Given the description of an element on the screen output the (x, y) to click on. 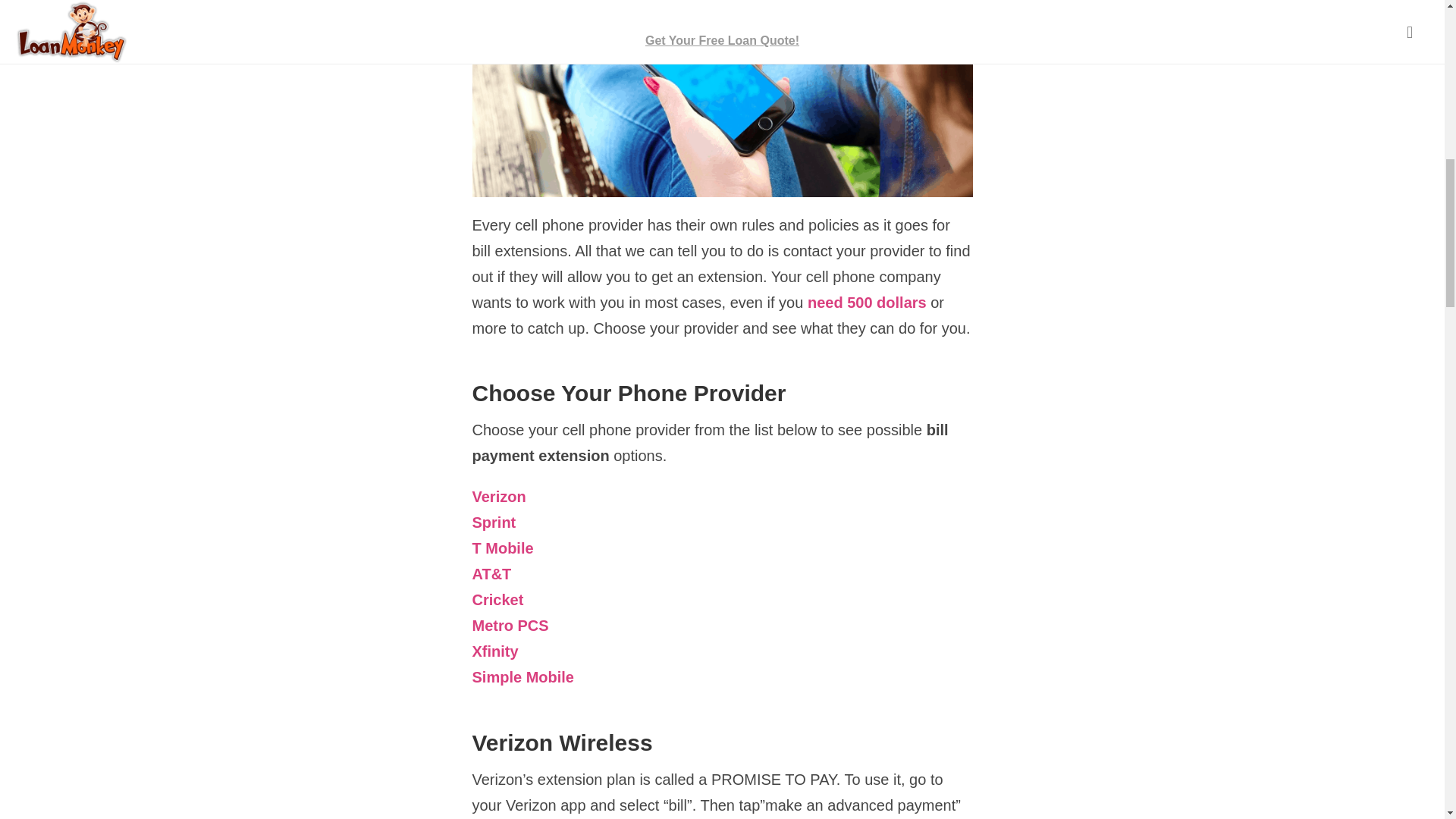
need 500 dollars (867, 303)
Cricket (496, 600)
Metro PCS (509, 626)
T Mobile (501, 548)
Sprint (493, 523)
Simple Mobile (522, 678)
Verizon (498, 497)
Xfinity (494, 651)
